Given the description of an element on the screen output the (x, y) to click on. 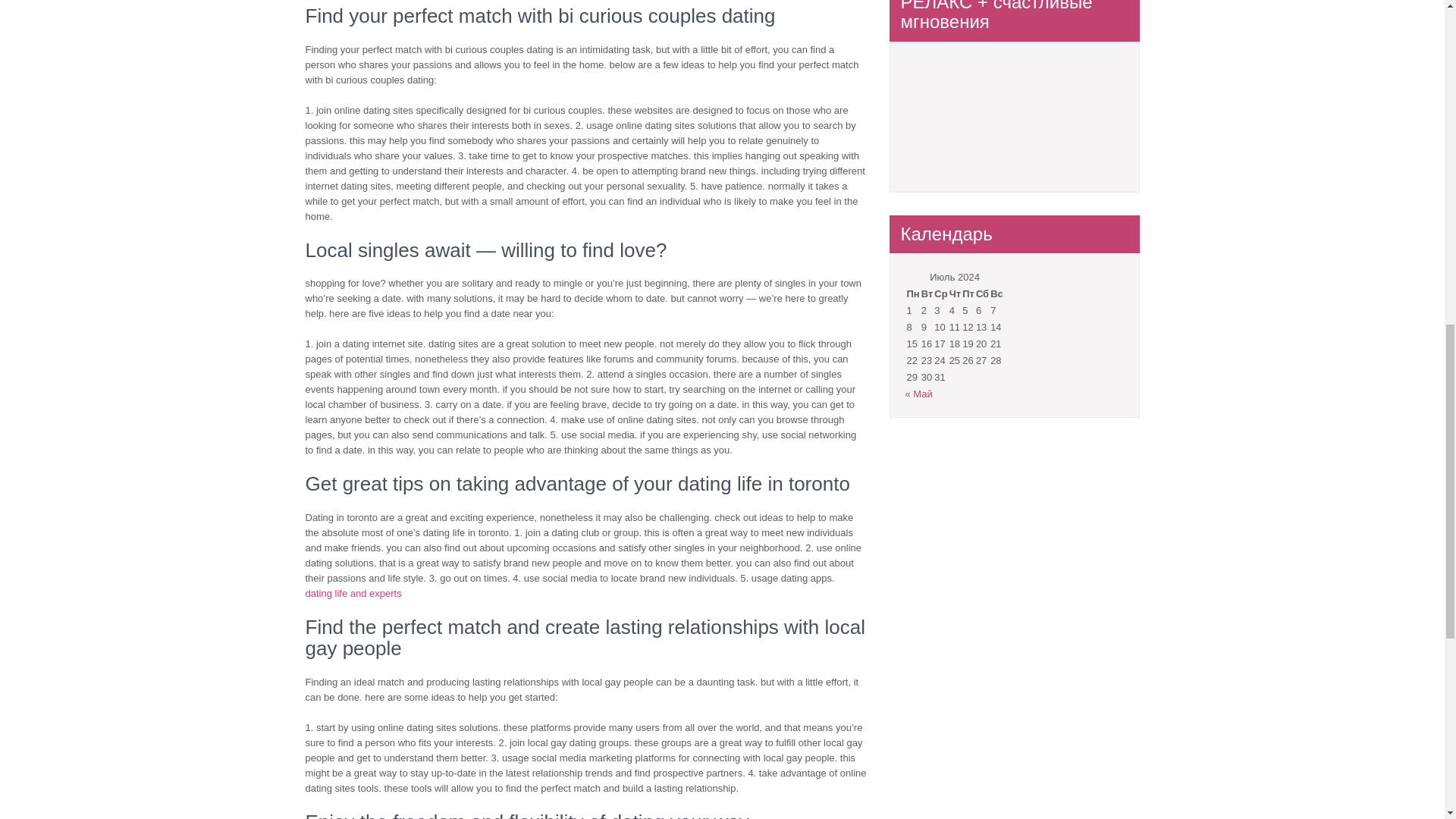
dating life and experts (352, 593)
